Given the description of an element on the screen output the (x, y) to click on. 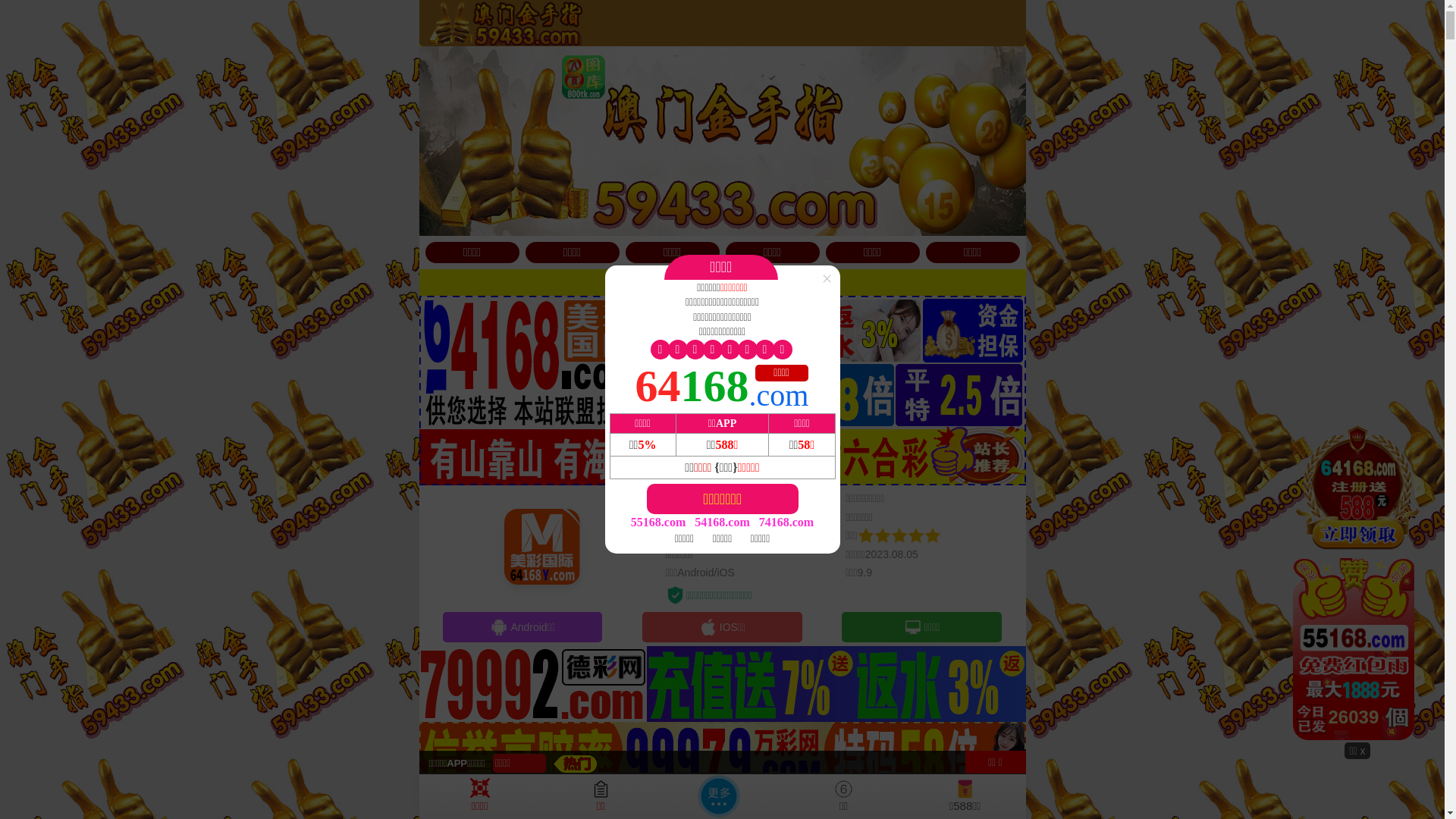
26377 Element type: text (1356, 582)
